Given the description of an element on the screen output the (x, y) to click on. 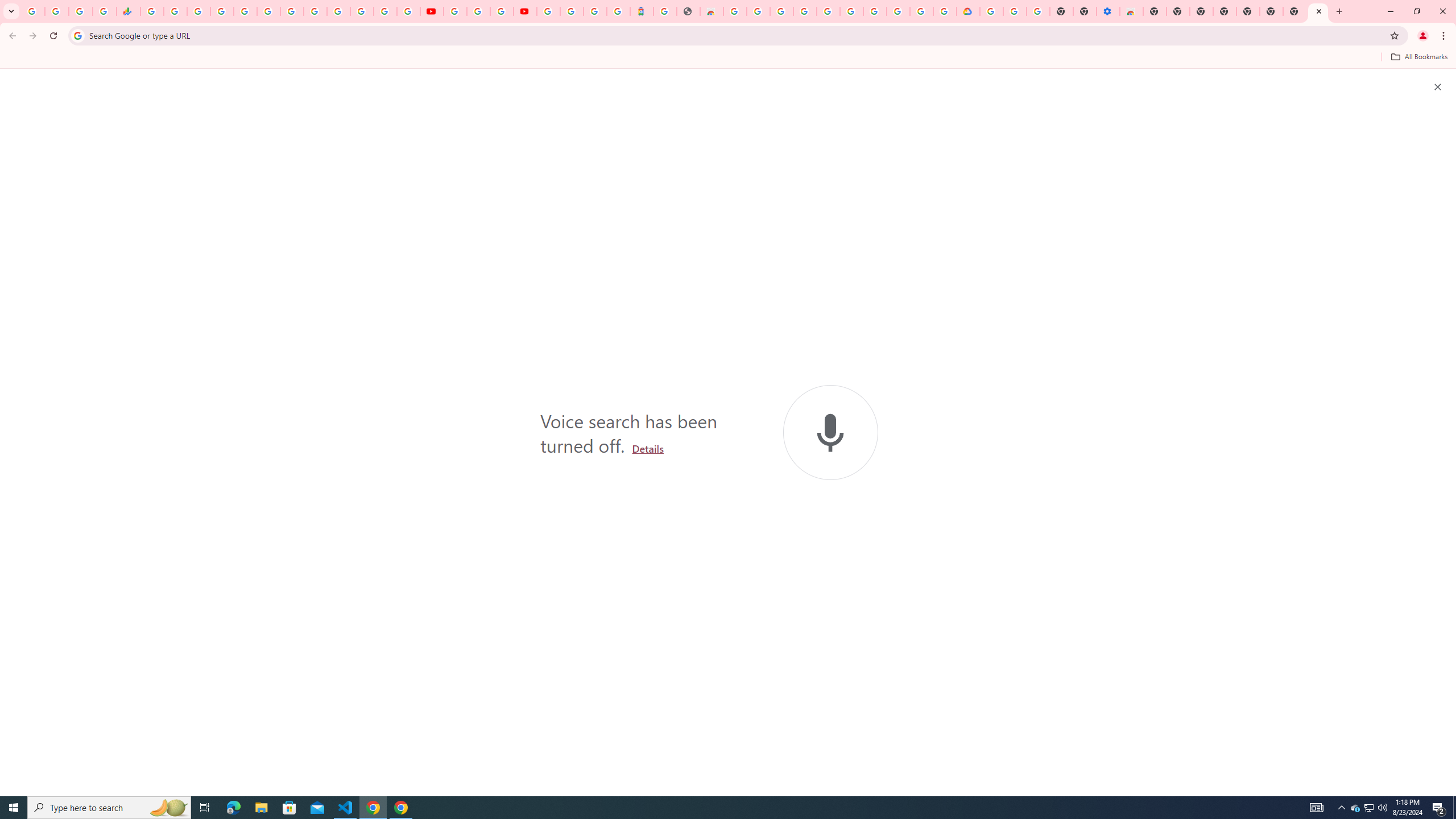
YouTube (454, 11)
